Given the description of an element on the screen output the (x, y) to click on. 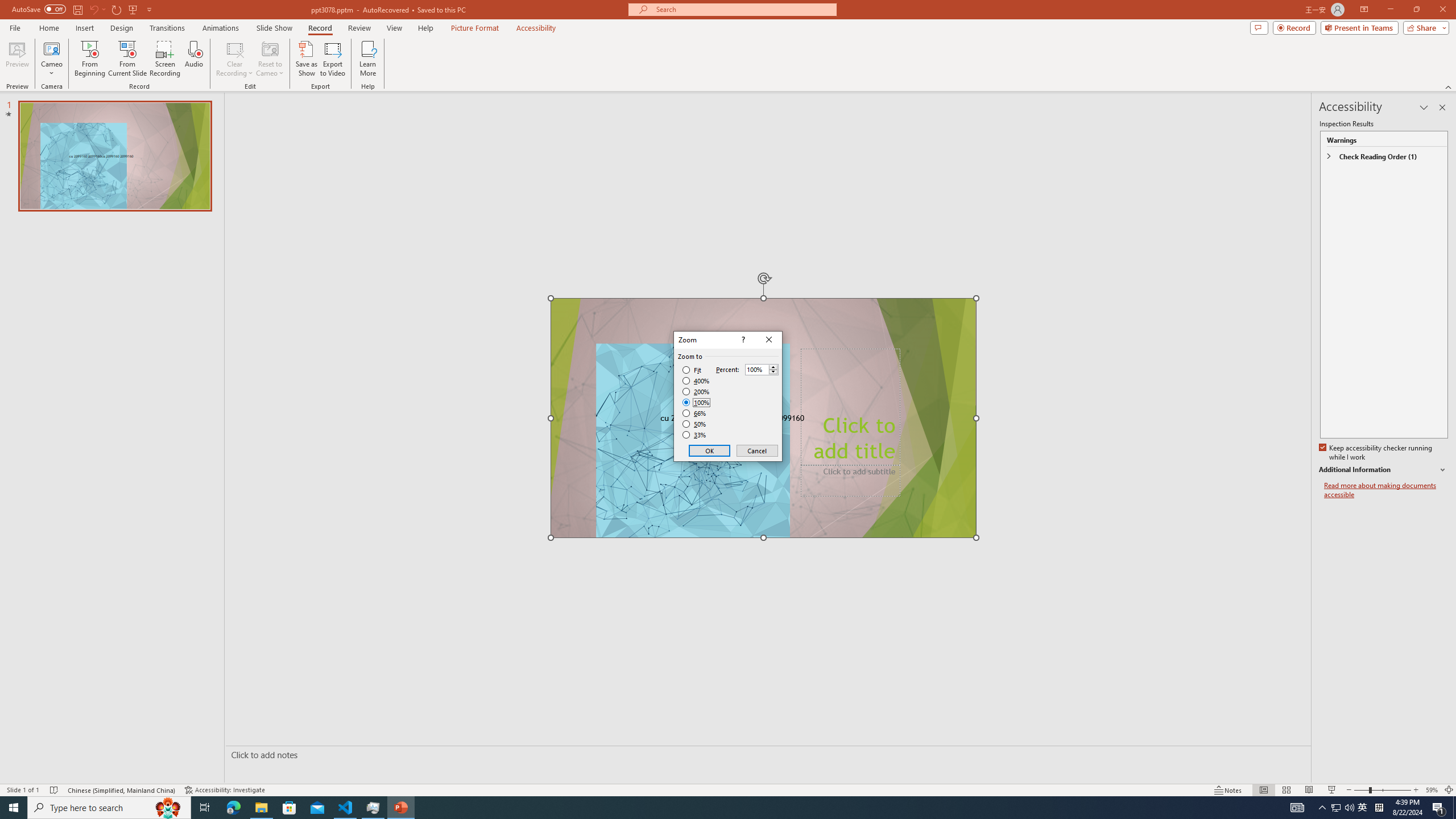
400% (696, 380)
OK (709, 450)
33% (694, 434)
